Given the description of an element on the screen output the (x, y) to click on. 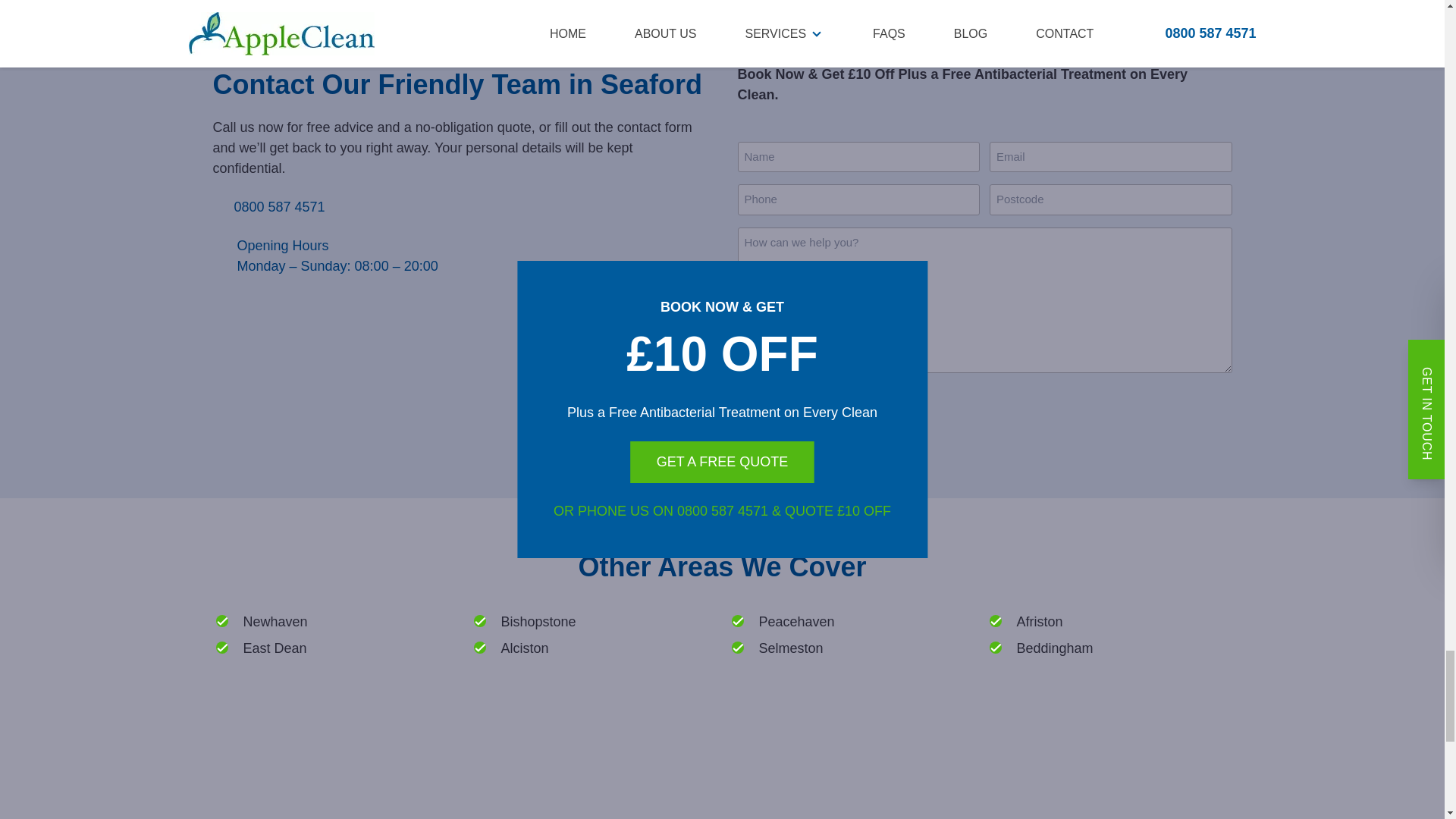
Submit Enquiry (820, 410)
